Given the description of an element on the screen output the (x, y) to click on. 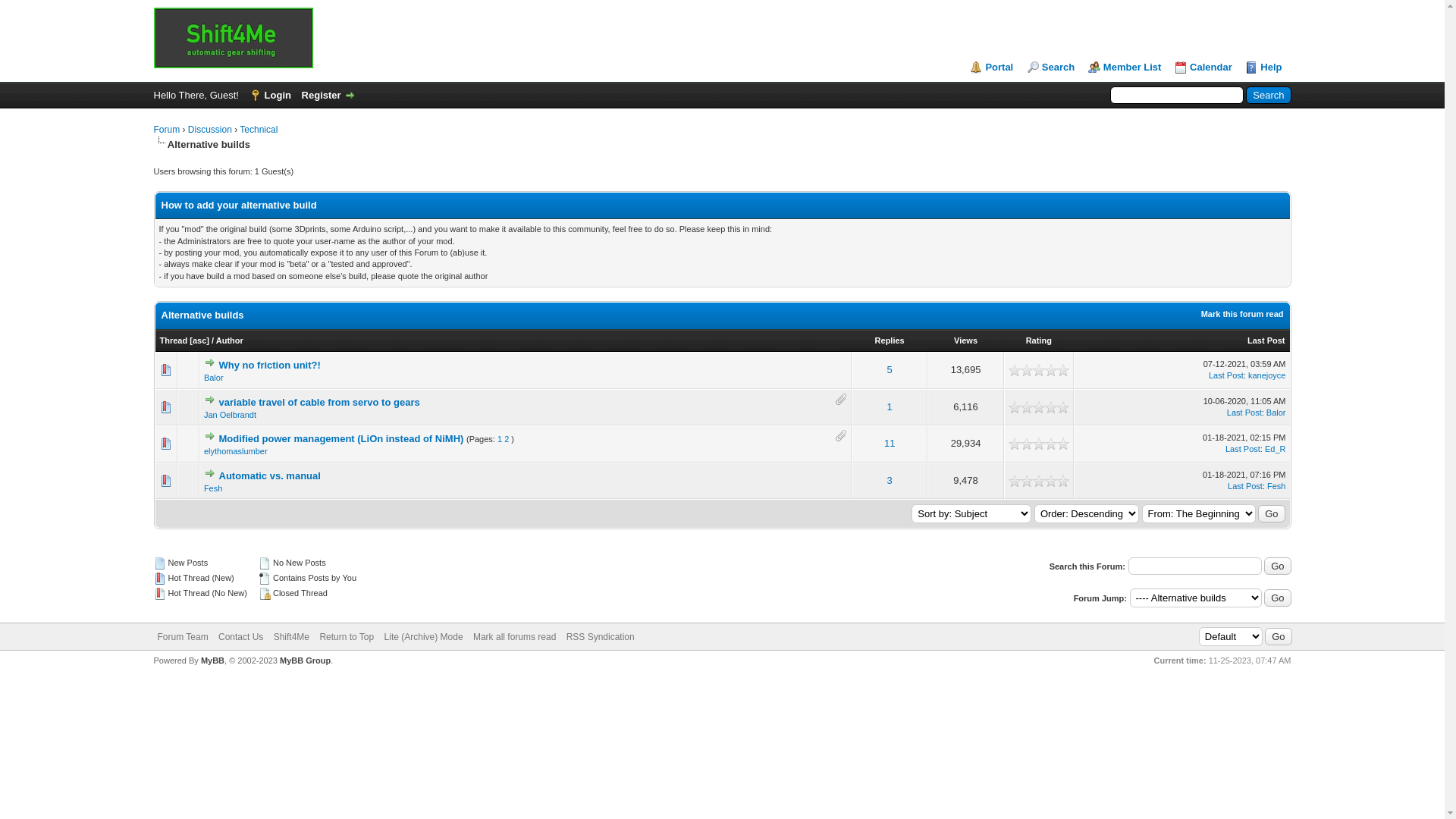
1 Element type: text (1014, 370)
2 Element type: text (1020, 370)
Forum Element type: hover (232, 37)
Forum Team Element type: text (182, 636)
5 Element type: text (1038, 480)
Mark this forum read Element type: text (1242, 313)
Jan Oelbrandt Element type: text (229, 414)
New posts. Hot thread. Element type: hover (166, 407)
Replies Element type: text (889, 340)
Portal Element type: text (991, 67)
Go to first unread post Element type: hover (209, 435)
4 Element type: text (1032, 370)
Mark all forums read Element type: text (514, 636)
Calendar Element type: text (1203, 67)
Member List Element type: text (1124, 67)
New Posts Element type: hover (159, 563)
Hot Thread (No New) Element type: hover (159, 593)
Last Post Element type: text (1242, 448)
Last Post Element type: text (1243, 412)
1 Element type: text (889, 406)
New posts. Hot thread. Element type: hover (166, 443)
Go to first unread post Element type: hover (209, 399)
Last Post Element type: text (1266, 340)
No New Posts Element type: hover (264, 563)
Register Element type: text (328, 94)
3 Element type: text (1026, 480)
Help Element type: text (1263, 67)
Go Element type: text (1277, 565)
Return to Top Element type: text (346, 636)
4 Element type: text (1032, 480)
2 Element type: text (506, 438)
This thread contains 1 attachment. Element type: hover (840, 435)
Go Element type: text (1277, 636)
Discussion Element type: text (210, 129)
Hot Thread (New) Element type: hover (159, 578)
5 Element type: text (1038, 407)
5 Element type: text (889, 369)
5 Element type: text (1038, 370)
Fesh Element type: text (1276, 485)
2 Element type: text (1020, 407)
Modified power management (LiOn instead of NiMH) Element type: text (341, 438)
5 Element type: text (1038, 443)
Rating Element type: text (1038, 340)
Go to first unread post Element type: hover (209, 473)
Search Element type: text (1050, 67)
Go Element type: text (1271, 513)
Contains Posts by You Element type: hover (264, 578)
2 Element type: text (1020, 443)
4 Element type: text (1032, 407)
3 Element type: text (1026, 370)
Views Element type: text (965, 340)
Balor Element type: text (213, 377)
1 Element type: text (499, 438)
1 Element type: text (1014, 480)
RSS Syndication Element type: text (600, 636)
MyBB Group Element type: text (304, 660)
3 Element type: text (1026, 443)
Why no friction unit?! Element type: text (269, 364)
4 Element type: text (1032, 443)
variable travel of cable from servo to gears Element type: text (319, 401)
Automatic vs. manual Element type: text (269, 475)
elythomaslumber Element type: text (235, 450)
Go Element type: text (1277, 597)
New posts. Hot thread. Element type: hover (166, 370)
Author Element type: text (229, 340)
2 Element type: text (1020, 480)
11 Element type: text (889, 442)
Thread Element type: text (173, 340)
Last Post Element type: text (1244, 485)
Go to first unread post Element type: hover (209, 362)
Fesh Element type: text (212, 487)
New posts. Hot thread. Element type: hover (166, 480)
Last Post Element type: text (1225, 374)
MyBB Element type: text (212, 660)
1 Element type: text (1014, 407)
Shift4Me Element type: text (291, 636)
asc Element type: text (199, 340)
kanejoyce Element type: text (1267, 374)
Ed_R Element type: text (1275, 448)
This thread contains 1 attachment. Element type: hover (840, 399)
Lite (Archive) Mode Element type: text (423, 636)
Login Element type: text (270, 94)
Search Element type: text (1267, 94)
Forum Element type: text (166, 129)
Closed Thread Element type: hover (264, 593)
Technical Element type: text (258, 129)
3 Element type: text (1026, 407)
Contact Us Element type: text (240, 636)
Balor Element type: text (1276, 412)
3 Element type: text (889, 480)
1 Element type: text (1014, 443)
